Given the description of an element on the screen output the (x, y) to click on. 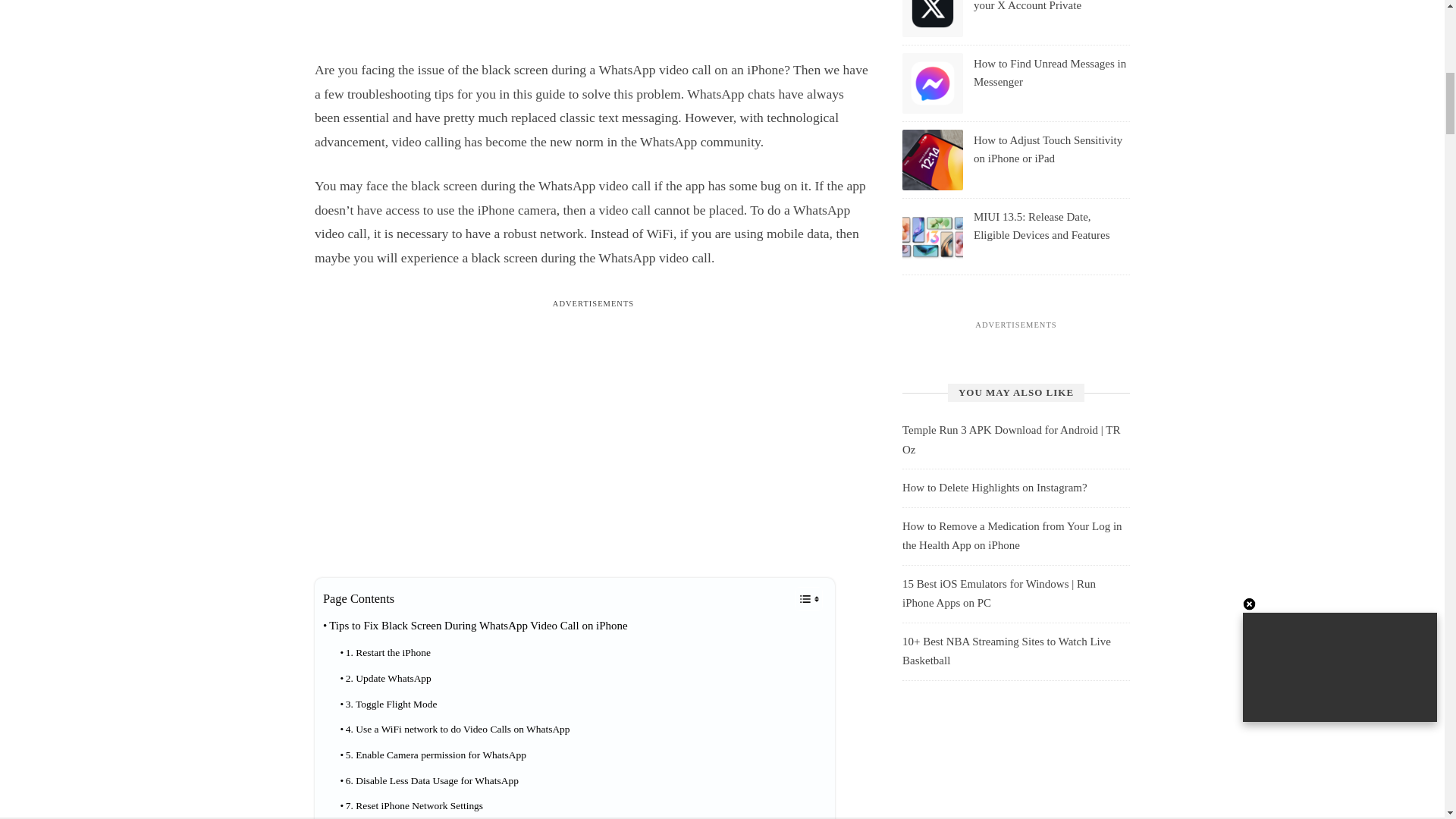
2. Update WhatsApp (384, 678)
4. Use a WiFi network to do Video Calls on WhatsApp (454, 729)
1. Restart the iPhone (384, 652)
6. Disable Less Data Usage for WhatsApp (428, 780)
5. Enable Camera permission for WhatsApp (432, 755)
7. Reset iPhone Network Settings (411, 806)
3. Toggle Flight Mode (387, 704)
Advertisement (592, 22)
